Given the description of an element on the screen output the (x, y) to click on. 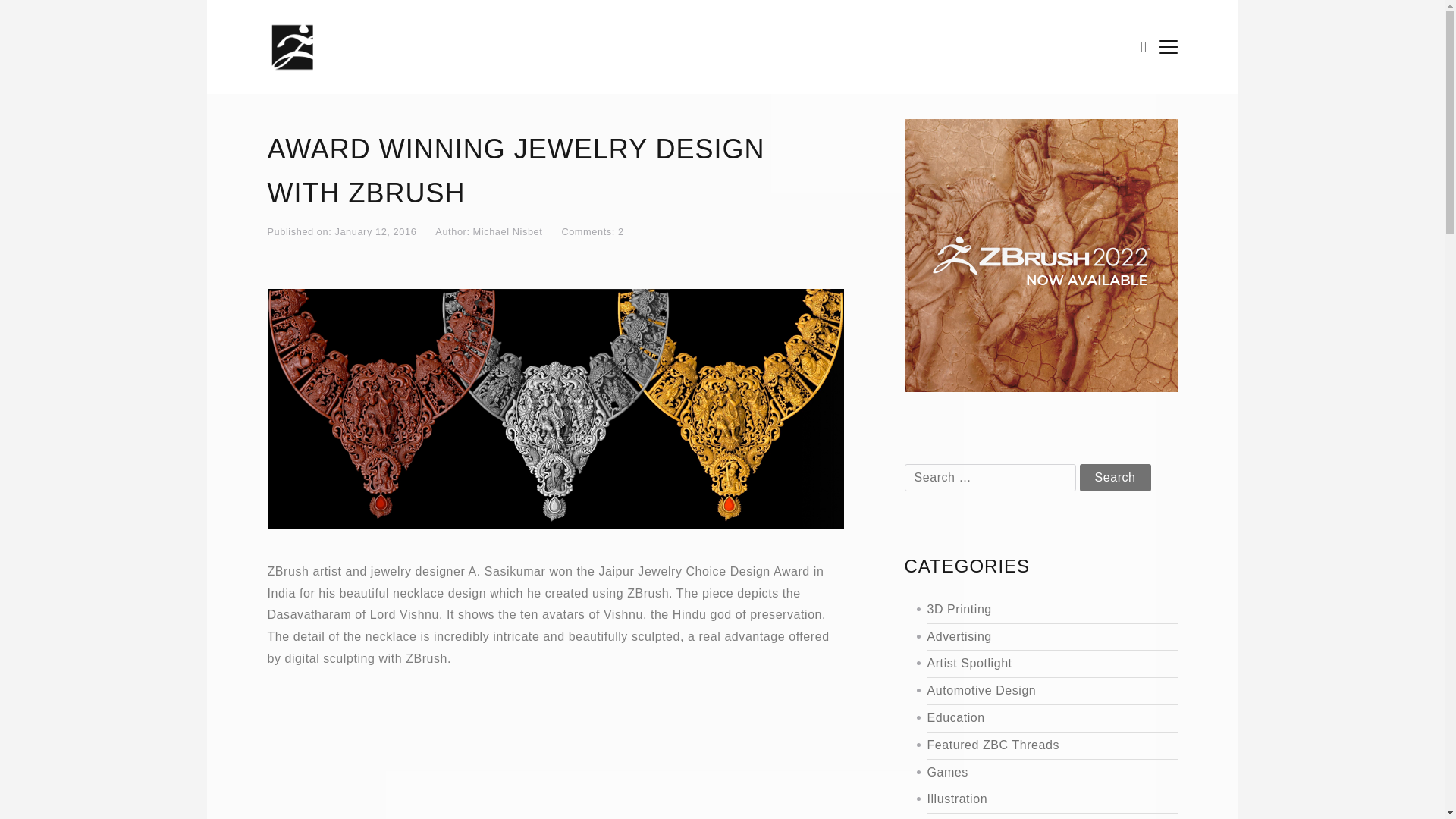
Featured ZBC Threads (1034, 745)
Michael Nisbet (508, 231)
Automotive Design (1034, 690)
Illustration with ZBrush (1034, 799)
Search (1115, 477)
Jewelry Design with ZBrush (1034, 817)
ZBrush in the Education Field (1034, 718)
Search (1115, 477)
ZBrush in Advertising (1034, 637)
Advertising (1034, 637)
January 12, 2016 (375, 231)
3D Printing with ZBrush (1034, 609)
Search (1115, 477)
Education (1034, 718)
Automotive Design with ZBrush (1034, 690)
